Given the description of an element on the screen output the (x, y) to click on. 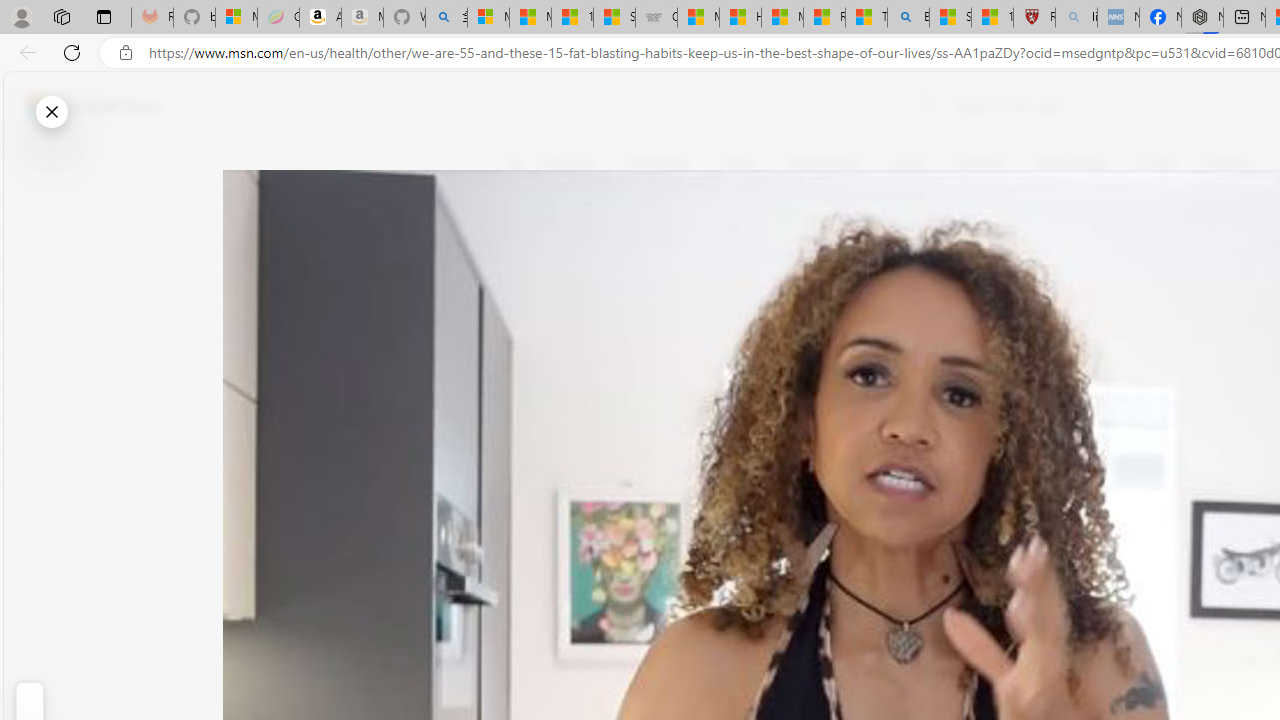
Follow (909, 258)
